Given the description of an element on the screen output the (x, y) to click on. 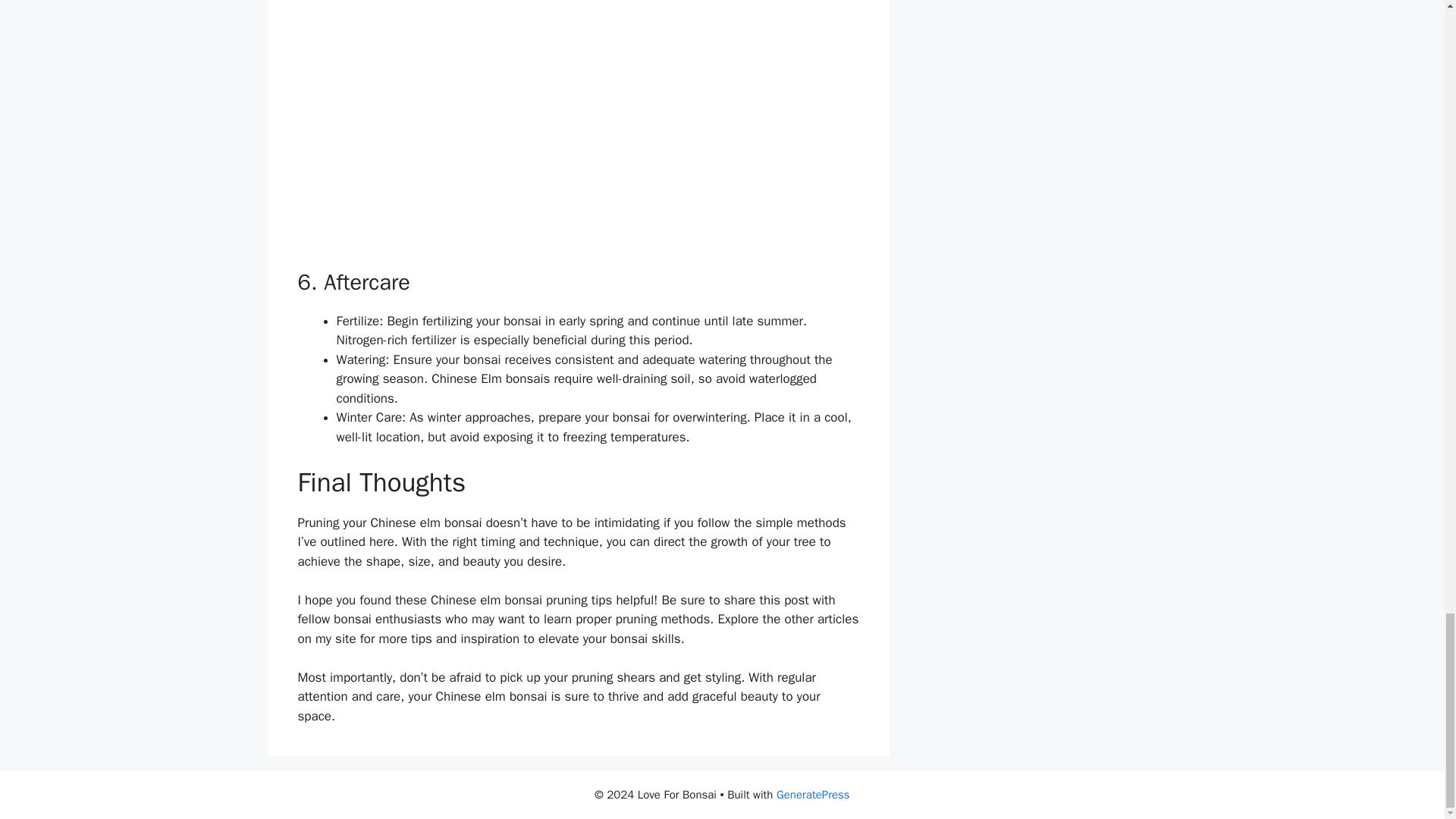
GeneratePress (813, 794)
